Given the description of an element on the screen output the (x, y) to click on. 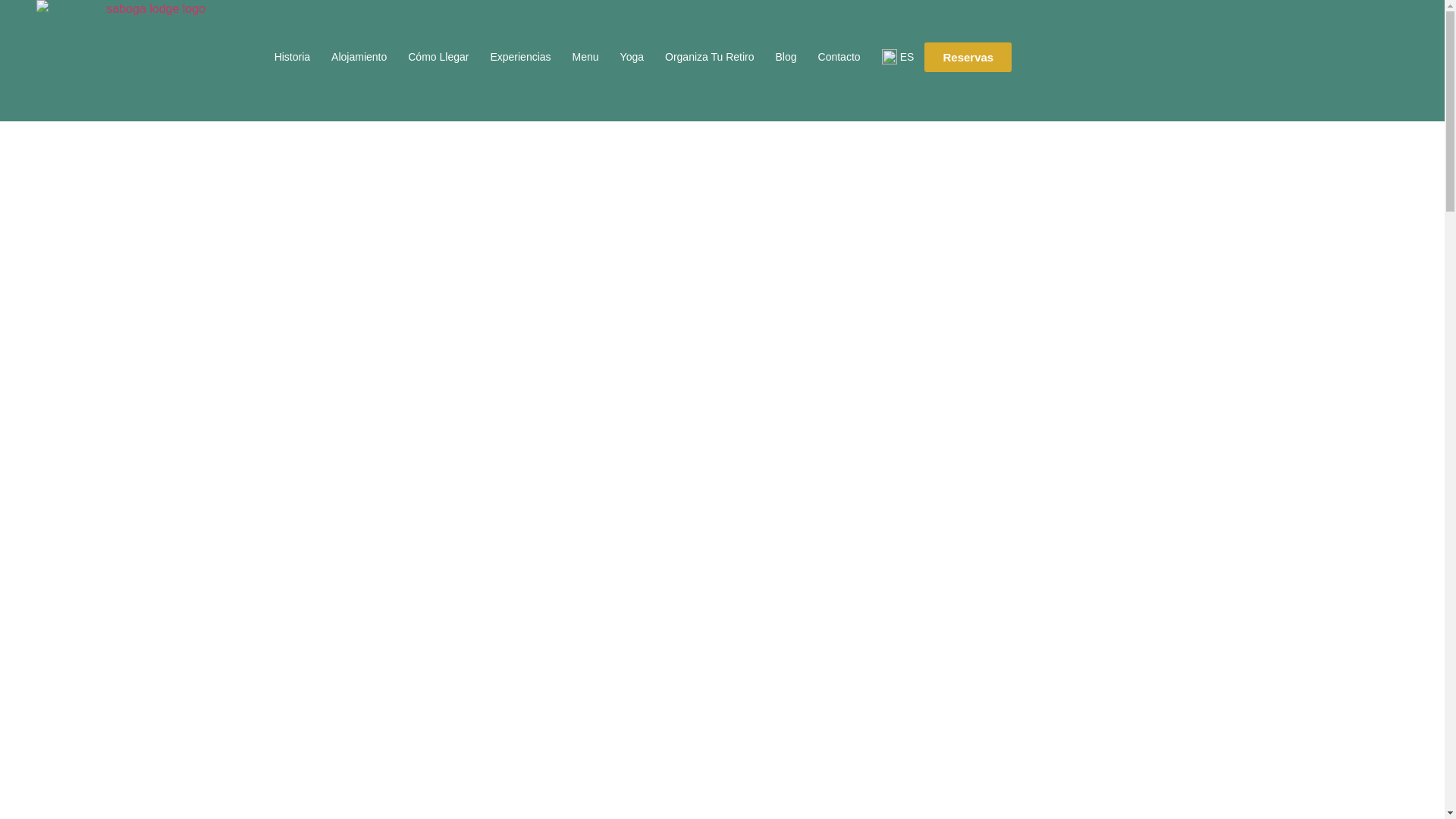
Menu (586, 56)
ES (897, 56)
Blog (786, 56)
Contacto (839, 56)
Alojamiento (358, 56)
Yoga (631, 56)
ES (897, 56)
Experiencias (519, 56)
Historia (291, 56)
Reservas (967, 57)
